Given the description of an element on the screen output the (x, y) to click on. 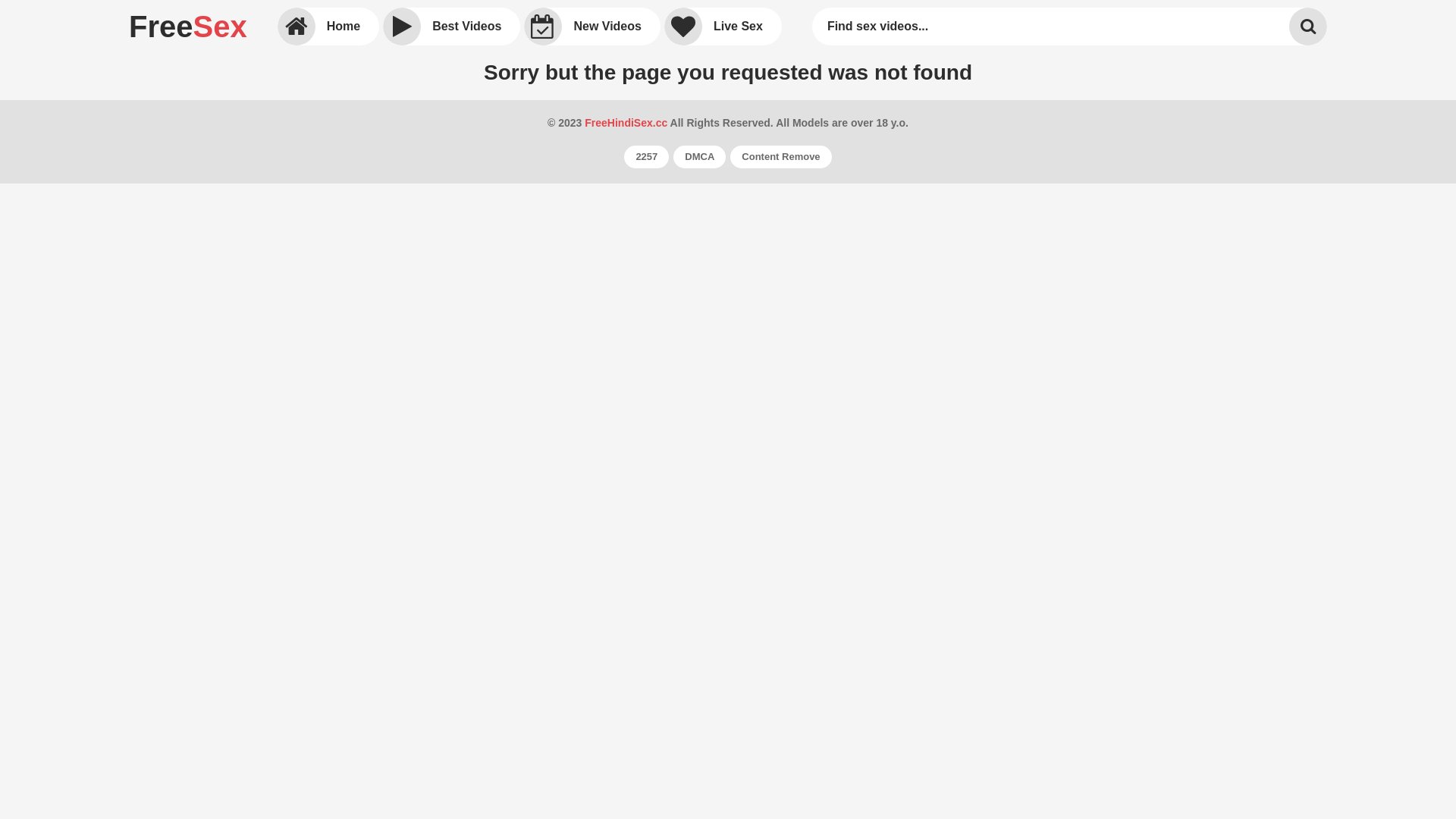
Search Element type: hover (1308, 26)
2257 Element type: text (646, 156)
Home Element type: text (328, 26)
Best Videos Element type: text (451, 26)
New Videos Element type: text (592, 26)
Live Sex Element type: text (722, 26)
Content Remove Element type: text (780, 156)
DMCA Element type: text (699, 156)
FreeSex Element type: text (187, 26)
